Given the description of an element on the screen output the (x, y) to click on. 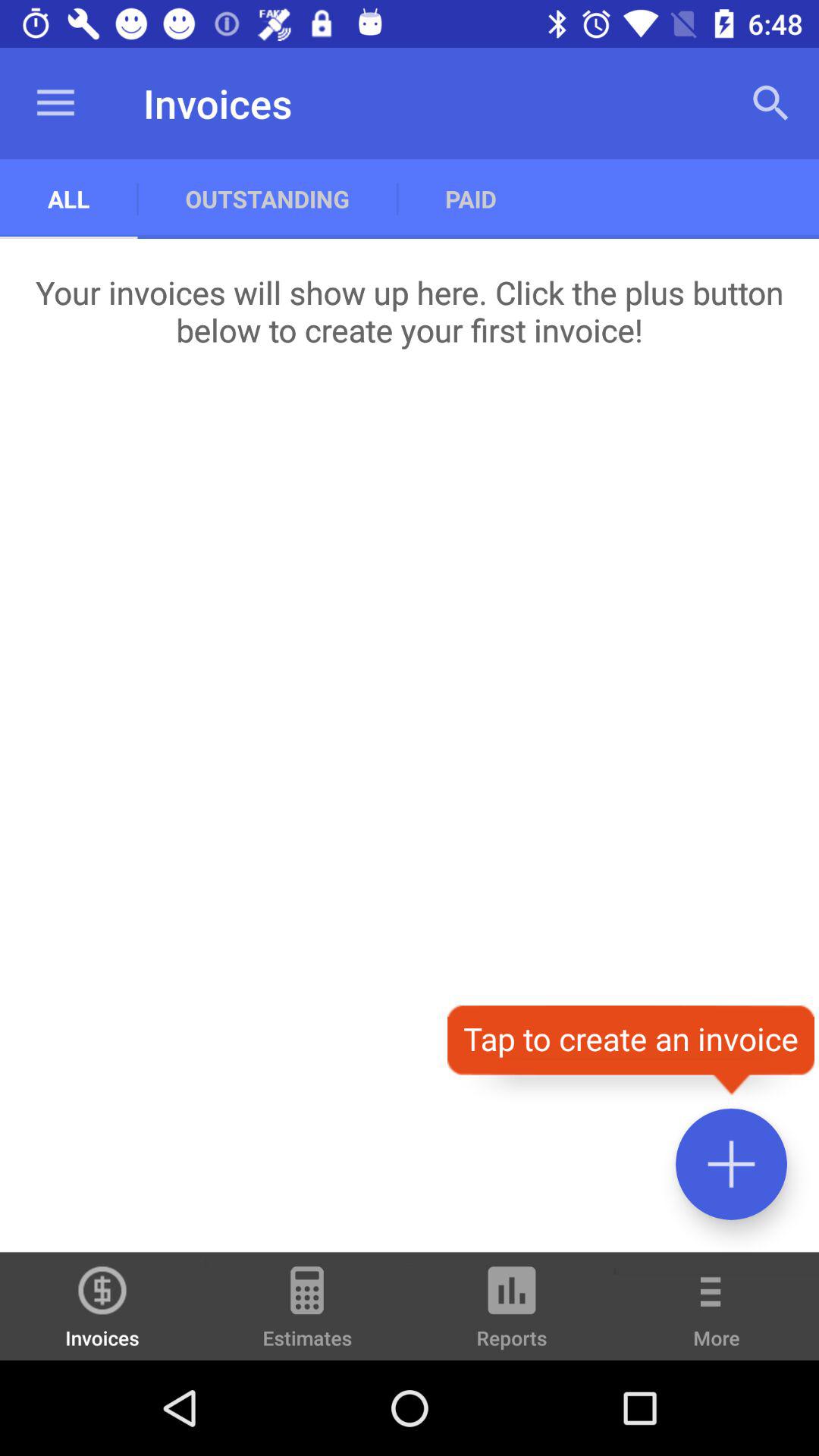
select icon next to outstanding item (55, 103)
